Given the description of an element on the screen output the (x, y) to click on. 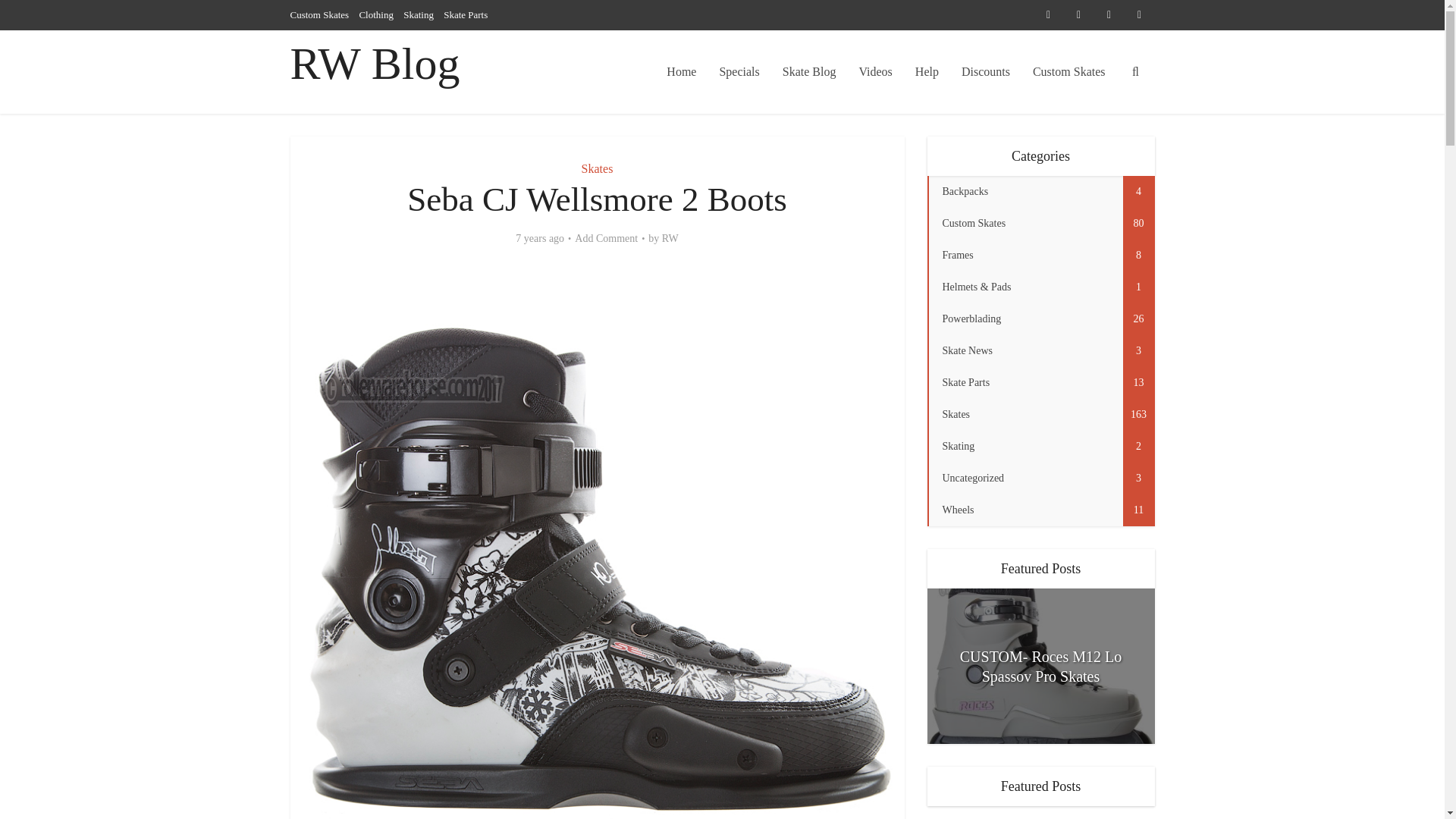
Custom Skates (319, 14)
Add Comment (606, 238)
Skates (596, 168)
RW (670, 238)
Clothing (375, 14)
Custom Skates (1069, 71)
Skate Blog (809, 71)
Skating (418, 14)
RW Blog (374, 63)
Skate Parts (465, 14)
